Given the description of an element on the screen output the (x, y) to click on. 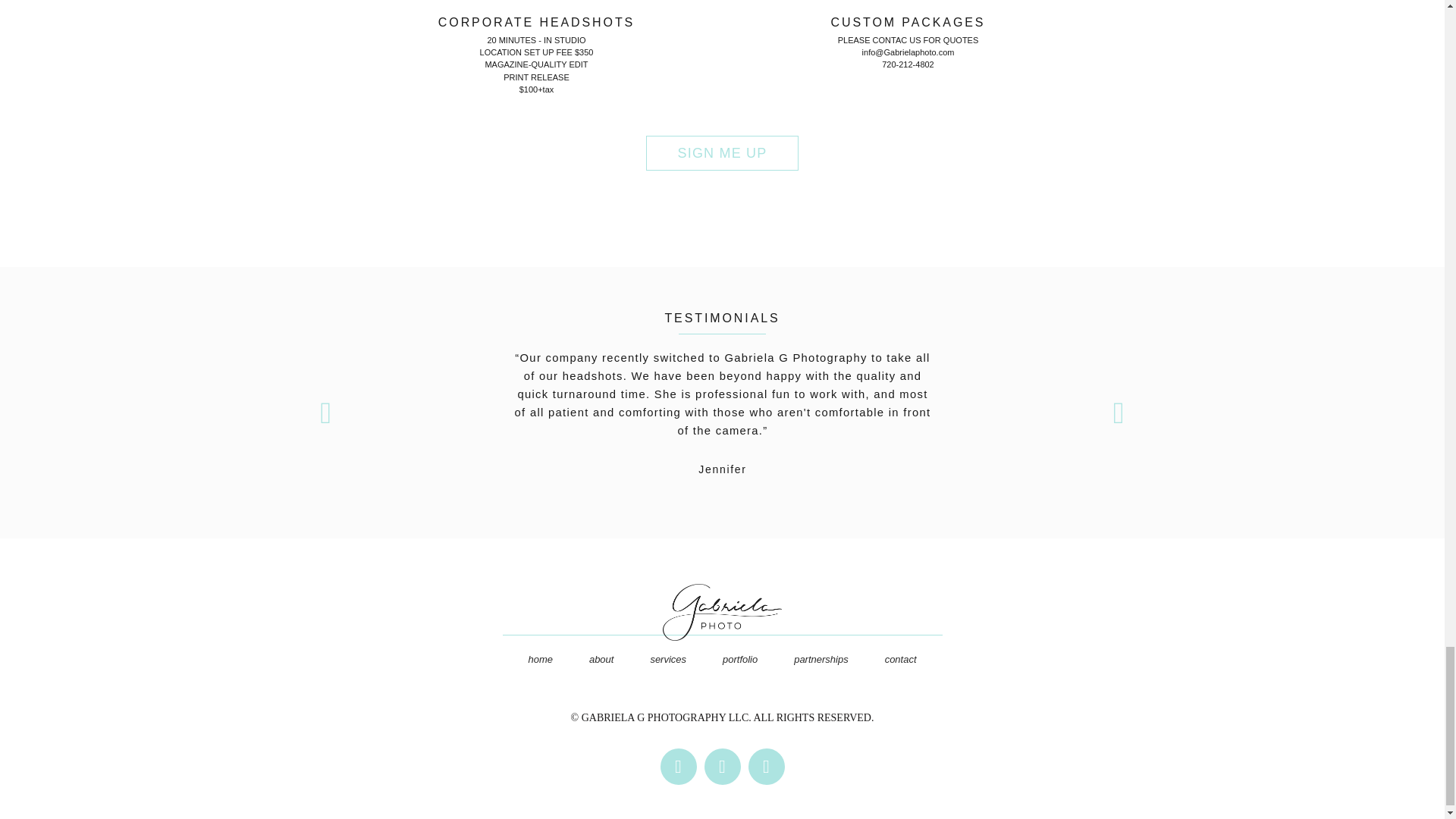
portfolio (740, 659)
partnerships (821, 659)
SIGN ME UP (721, 152)
home (539, 659)
contact (900, 659)
services (667, 659)
about (600, 659)
